Given the description of an element on the screen output the (x, y) to click on. 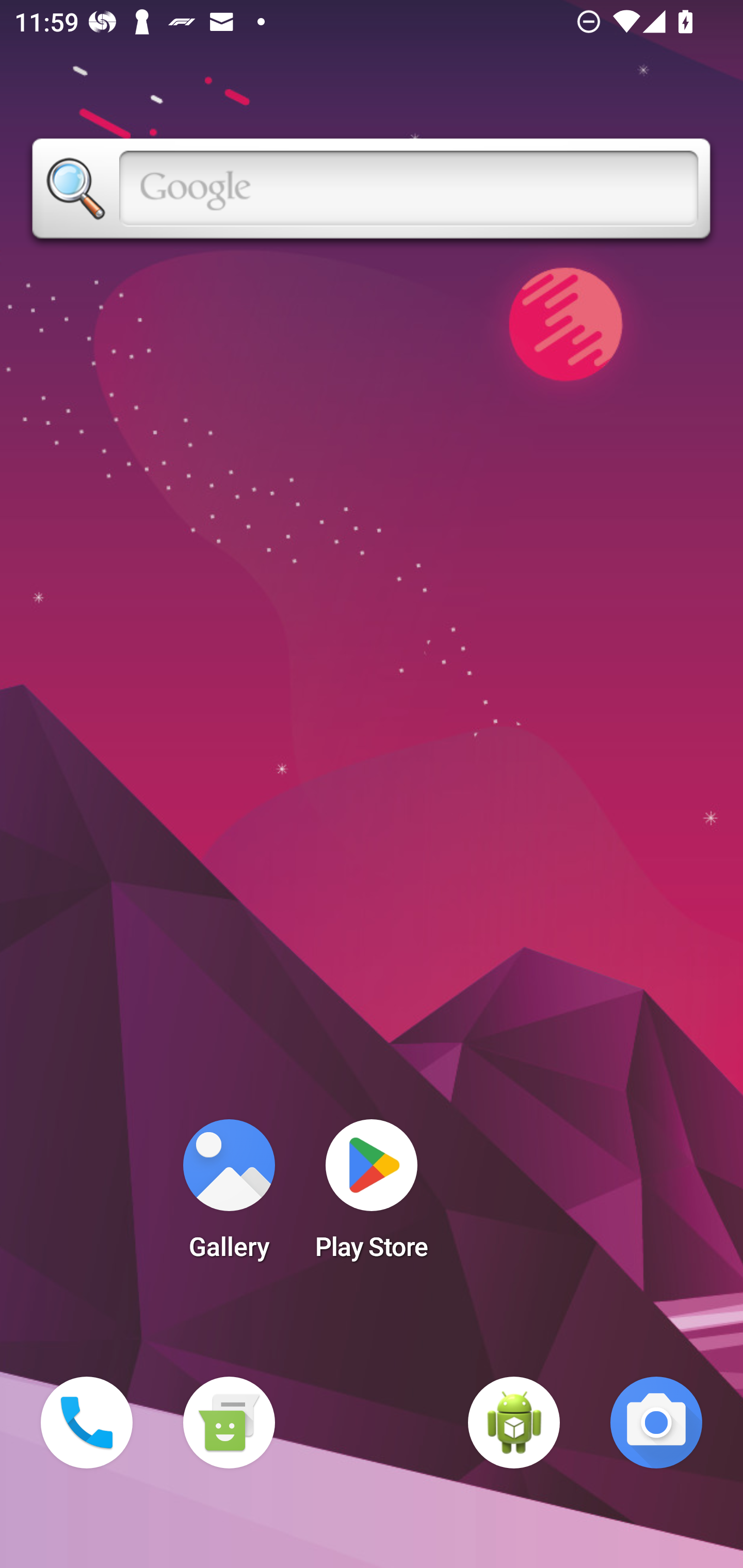
Gallery (228, 1195)
Play Store (371, 1195)
Phone (86, 1422)
Messaging (228, 1422)
WebView Browser Tester (513, 1422)
Camera (656, 1422)
